Given the description of an element on the screen output the (x, y) to click on. 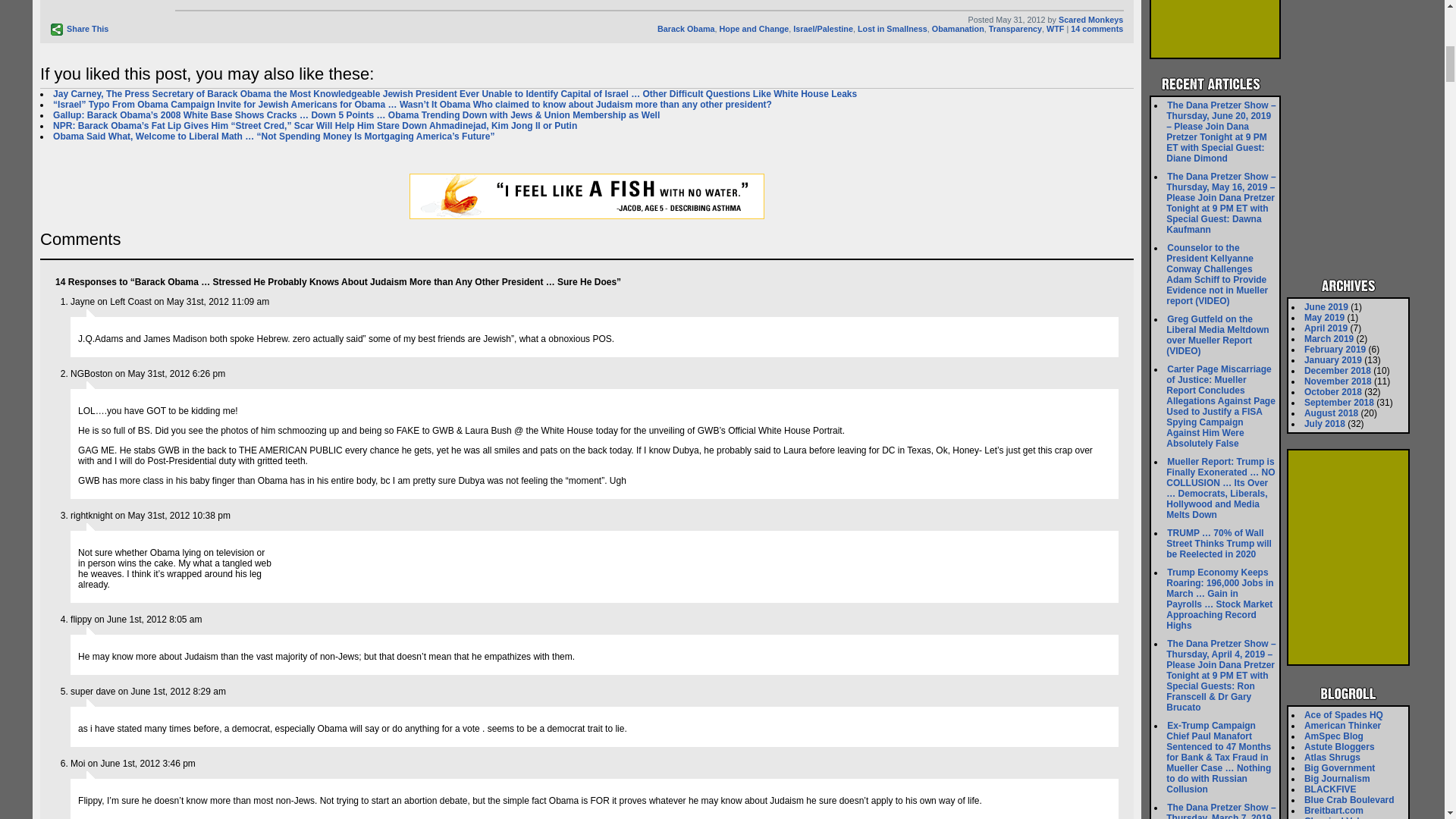
Hope and Change (754, 28)
Lost in Smallness (892, 28)
Share This (78, 29)
Obamanation (957, 28)
Transparency (1015, 28)
14 comments (1096, 28)
WTF (1055, 28)
Scared Monkeys (1090, 19)
Barack Obama (686, 28)
